Given the description of an element on the screen output the (x, y) to click on. 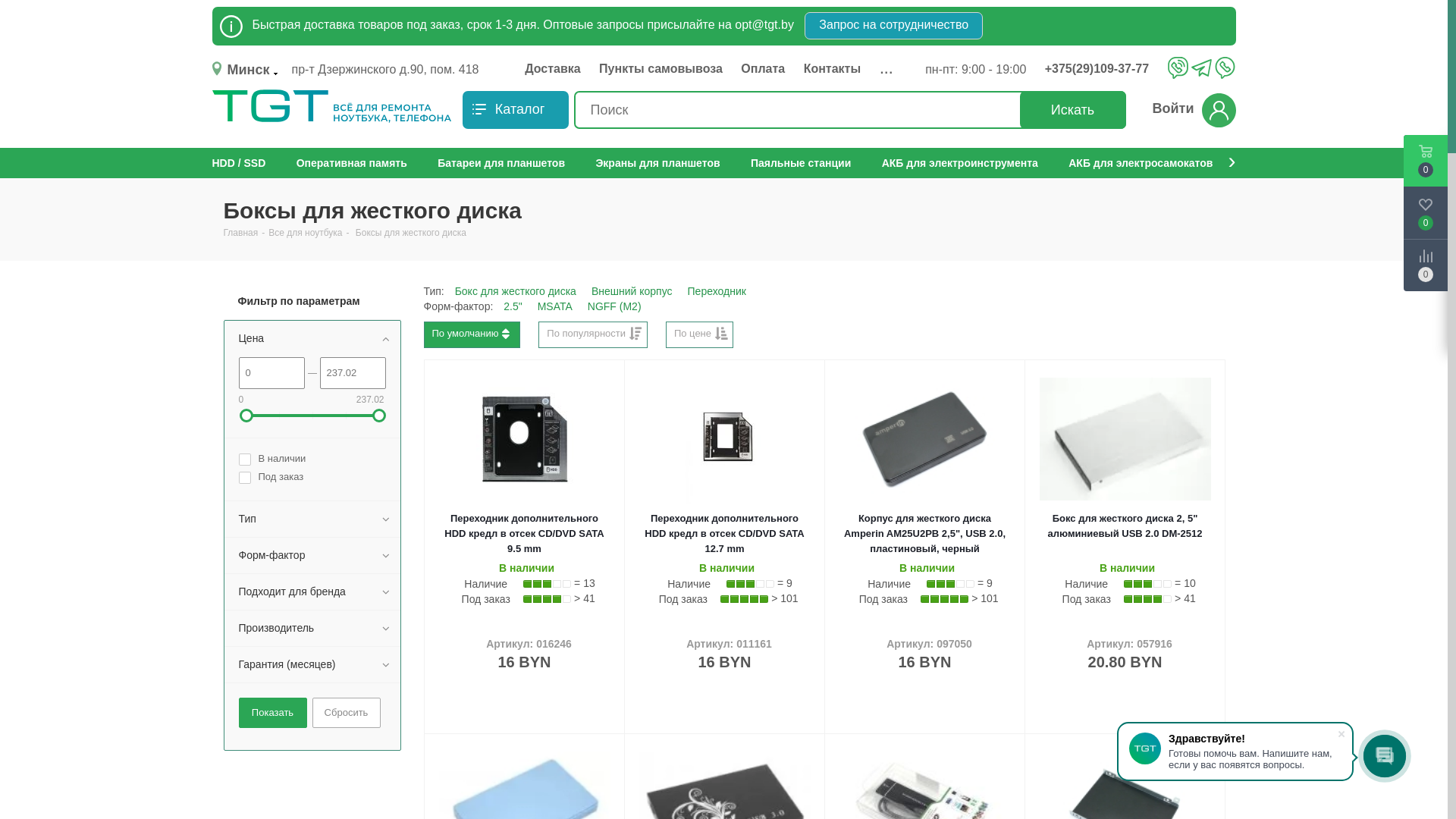
telegram Element type: hover (1201, 68)
whatsapp Element type: hover (1224, 67)
+375(29)109-37-77 Element type: text (1100, 68)
Y Element type: text (4, 4)
NGFF (M2) Element type: text (614, 306)
opt@tgt.by Element type: text (763, 24)
2.5" Element type: text (512, 306)
MSATA Element type: text (554, 306)
viber Element type: hover (1177, 67)
+375(29)109-37-77 Element type: text (1104, 68)
